Given the description of an element on the screen output the (x, y) to click on. 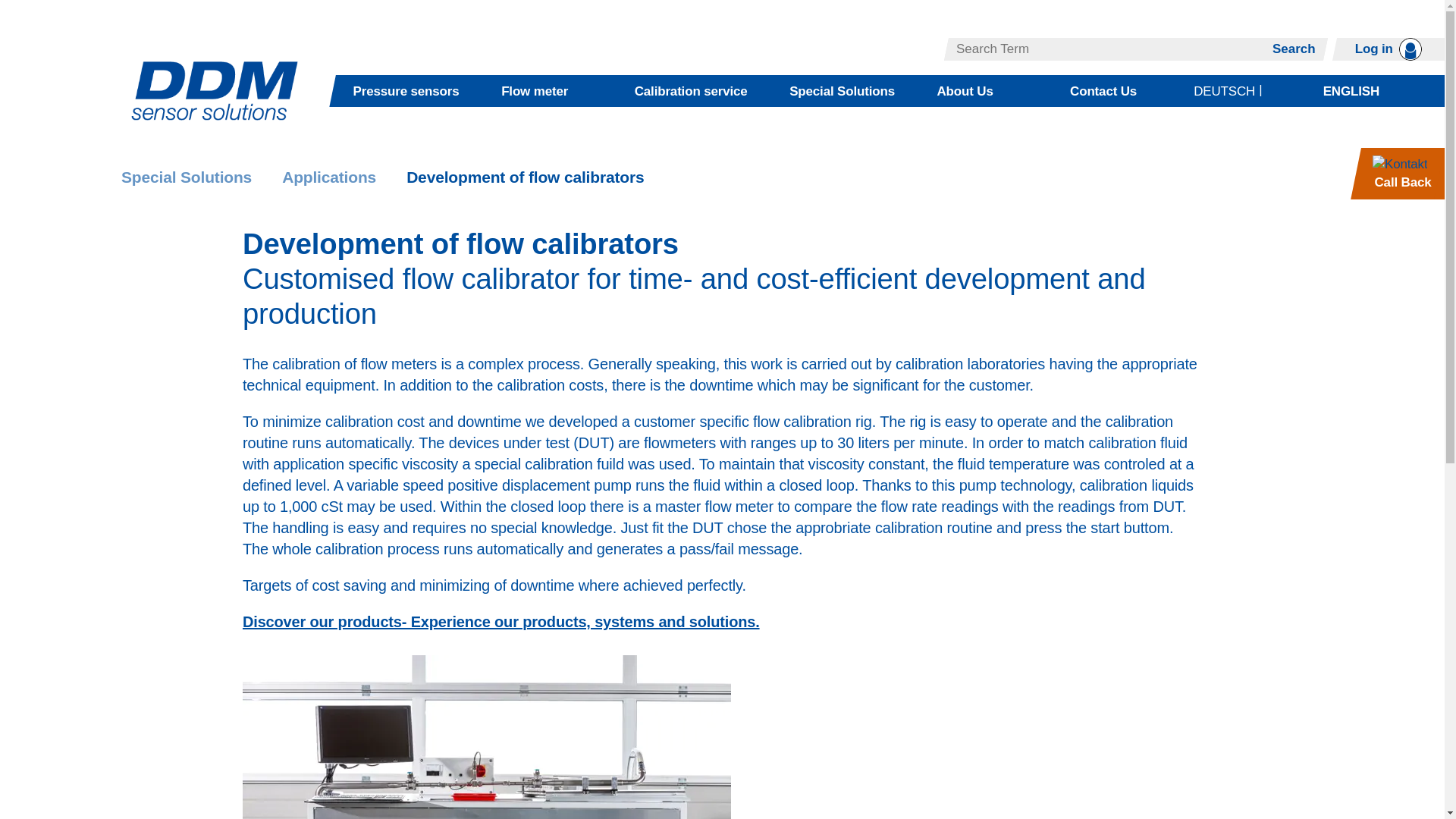
Search (1293, 48)
Search (1293, 48)
Profile (1388, 48)
Contact Us (1103, 91)
Flow meter (533, 91)
Special Solutions (842, 91)
Search (1293, 48)
About Us (964, 91)
DEUTSCH (1224, 91)
Pressure sensors (406, 91)
